Given the description of an element on the screen output the (x, y) to click on. 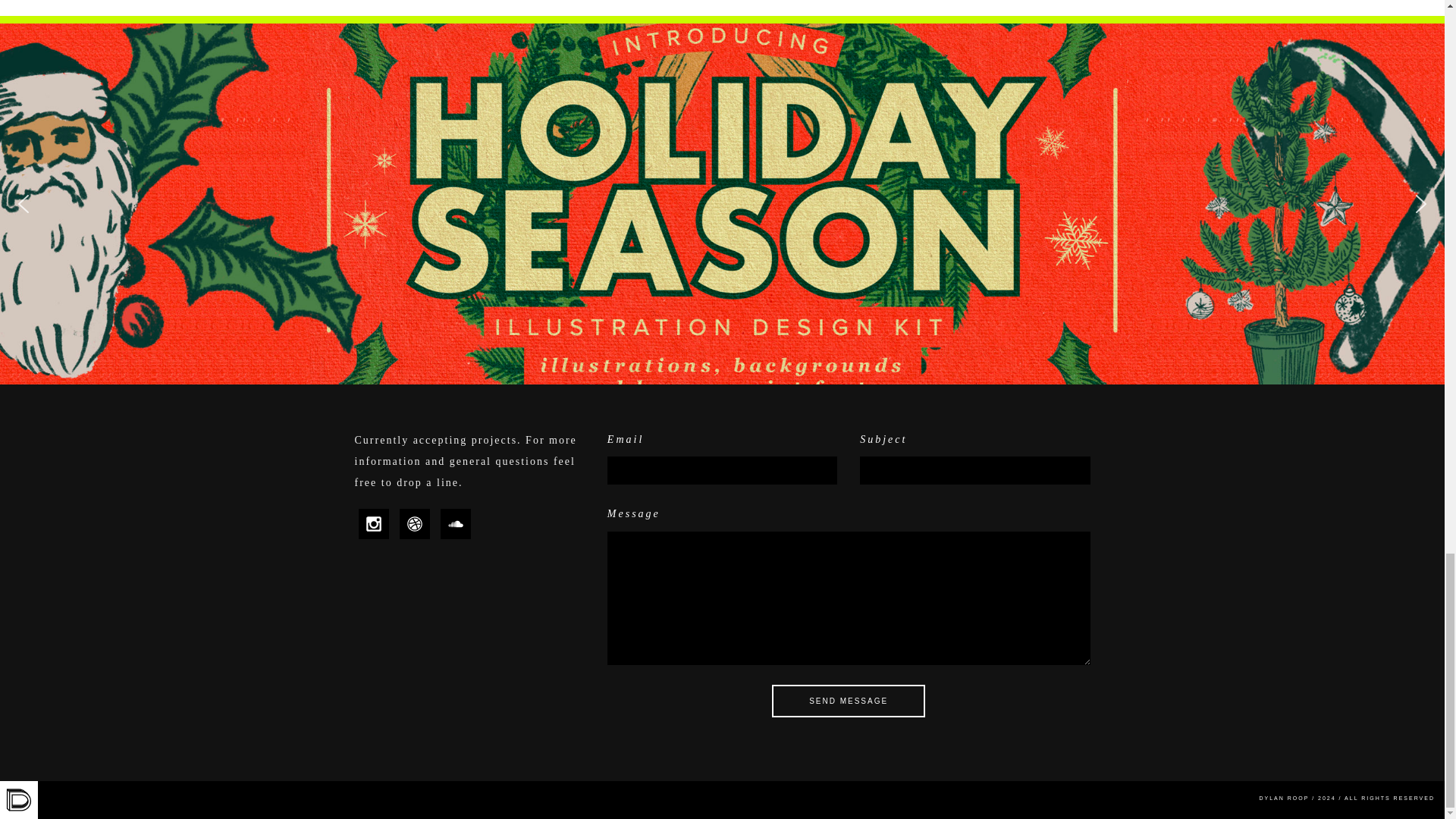
Send Message (847, 700)
